Given the description of an element on the screen output the (x, y) to click on. 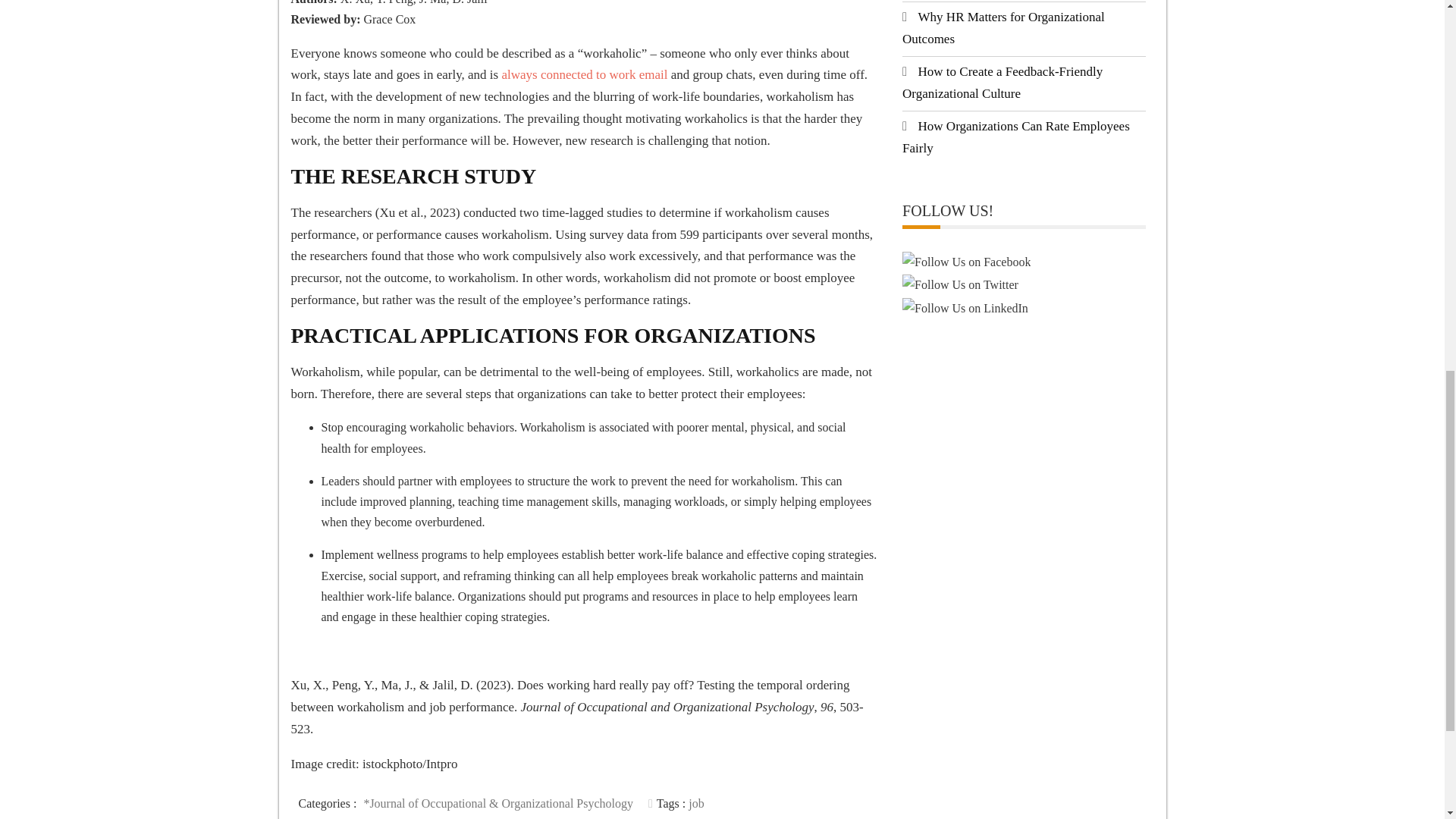
Follow Us on Twitter (959, 284)
always connected to work email (583, 74)
How to Create a Feedback-Friendly Organizational Culture (1002, 82)
Follow Us on Facebook (966, 261)
How Organizations Can Rate Employees Fairly (1015, 136)
Why HR Matters for Organizational Outcomes (1003, 27)
job performance (501, 807)
Follow Us on LinkedIn (964, 308)
